Given the description of an element on the screen output the (x, y) to click on. 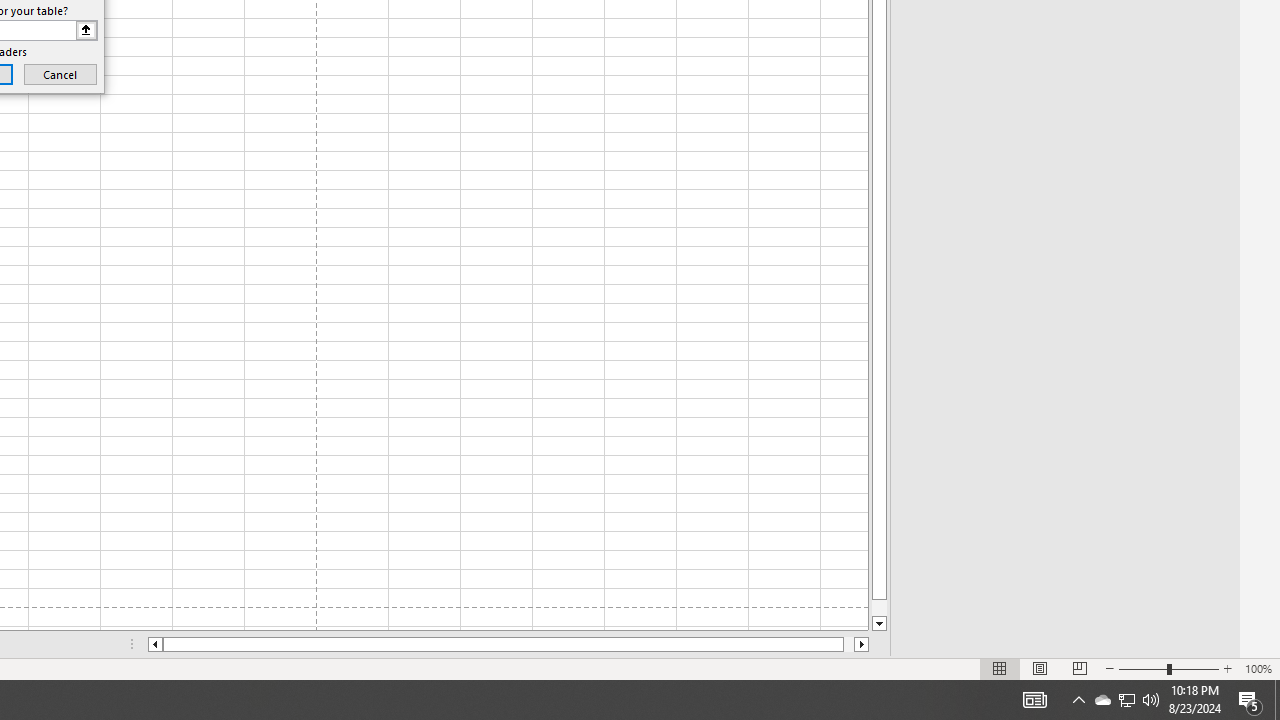
Class: NetUIScrollBar (507, 644)
Page Break Preview (1079, 668)
Zoom Out (1142, 668)
Column left (153, 644)
Zoom (1168, 668)
Line down (879, 624)
Column right (861, 644)
Page right (848, 644)
Page down (879, 607)
Zoom In (1227, 668)
Normal (1000, 668)
